Given the description of an element on the screen output the (x, y) to click on. 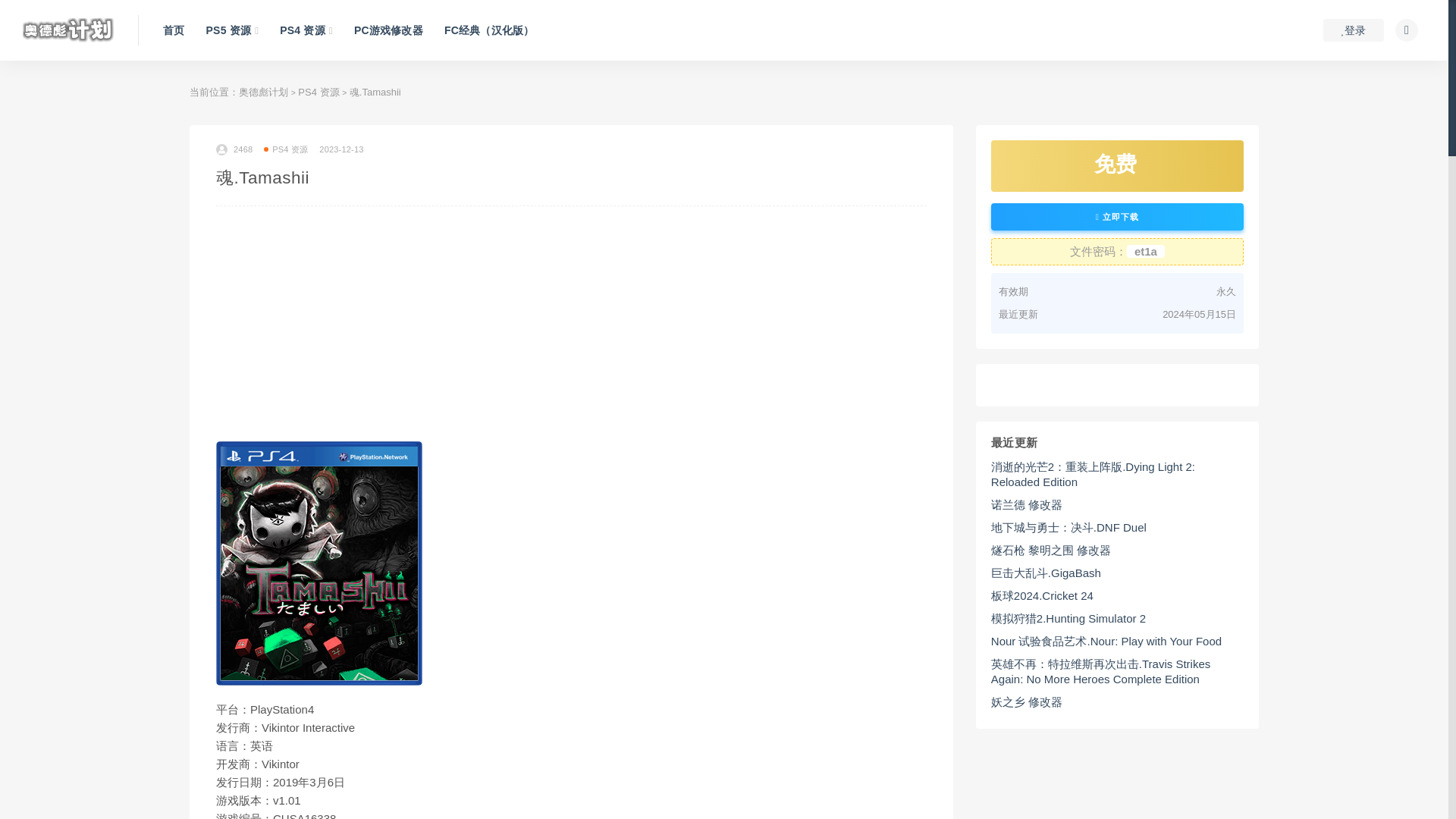
2023-12-13 (340, 148)
2468 (233, 149)
